Given the description of an element on the screen output the (x, y) to click on. 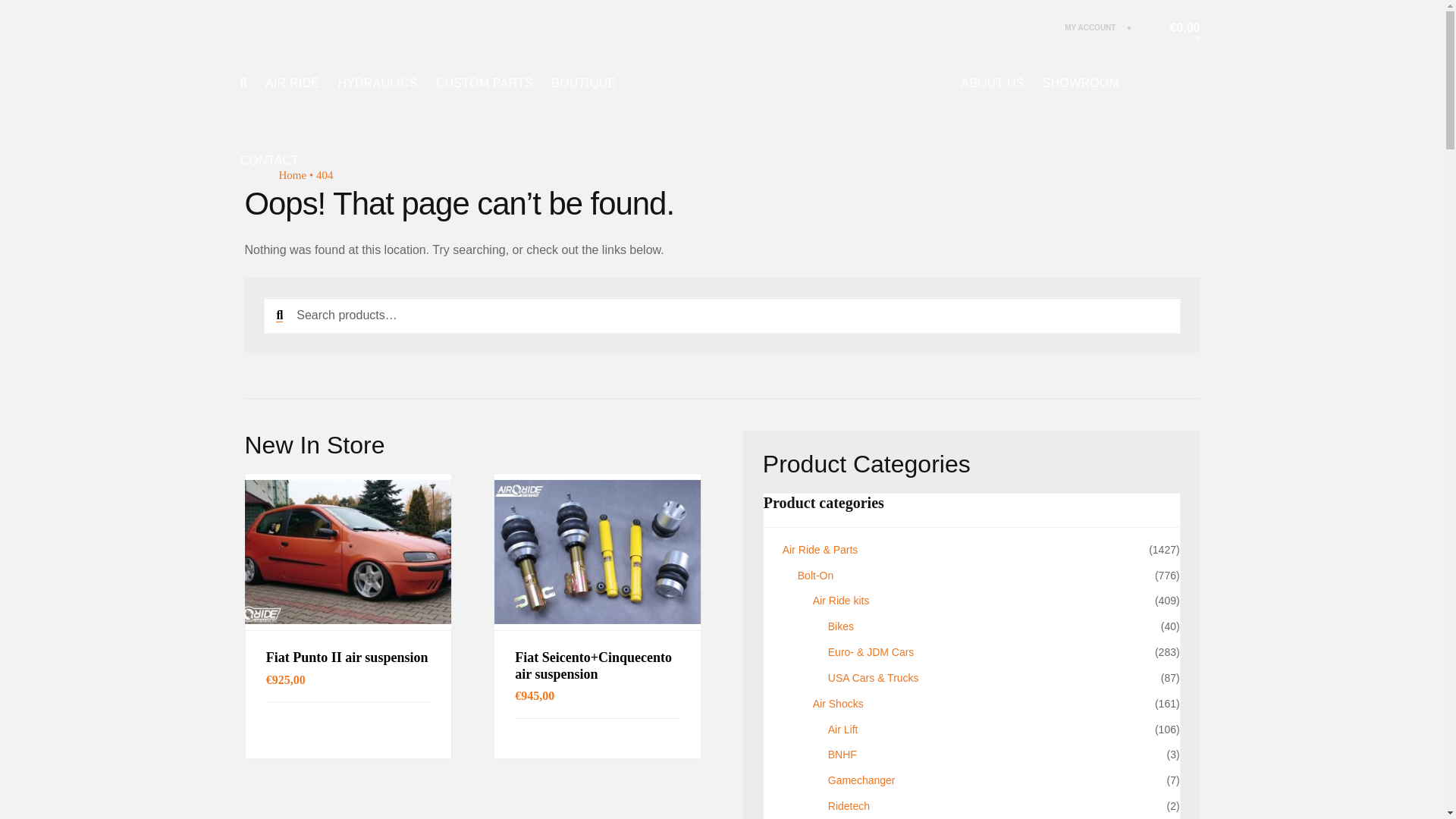
HYDRAULICS (376, 83)
BOUTIQUE (583, 83)
Air Shocks (837, 703)
CUSTOM PARTS (483, 83)
Add to cart (597, 738)
Home (293, 174)
SHOWROOM (1080, 83)
AIR RIDE (291, 83)
MY ACCOUNT (1089, 27)
